Given the description of an element on the screen output the (x, y) to click on. 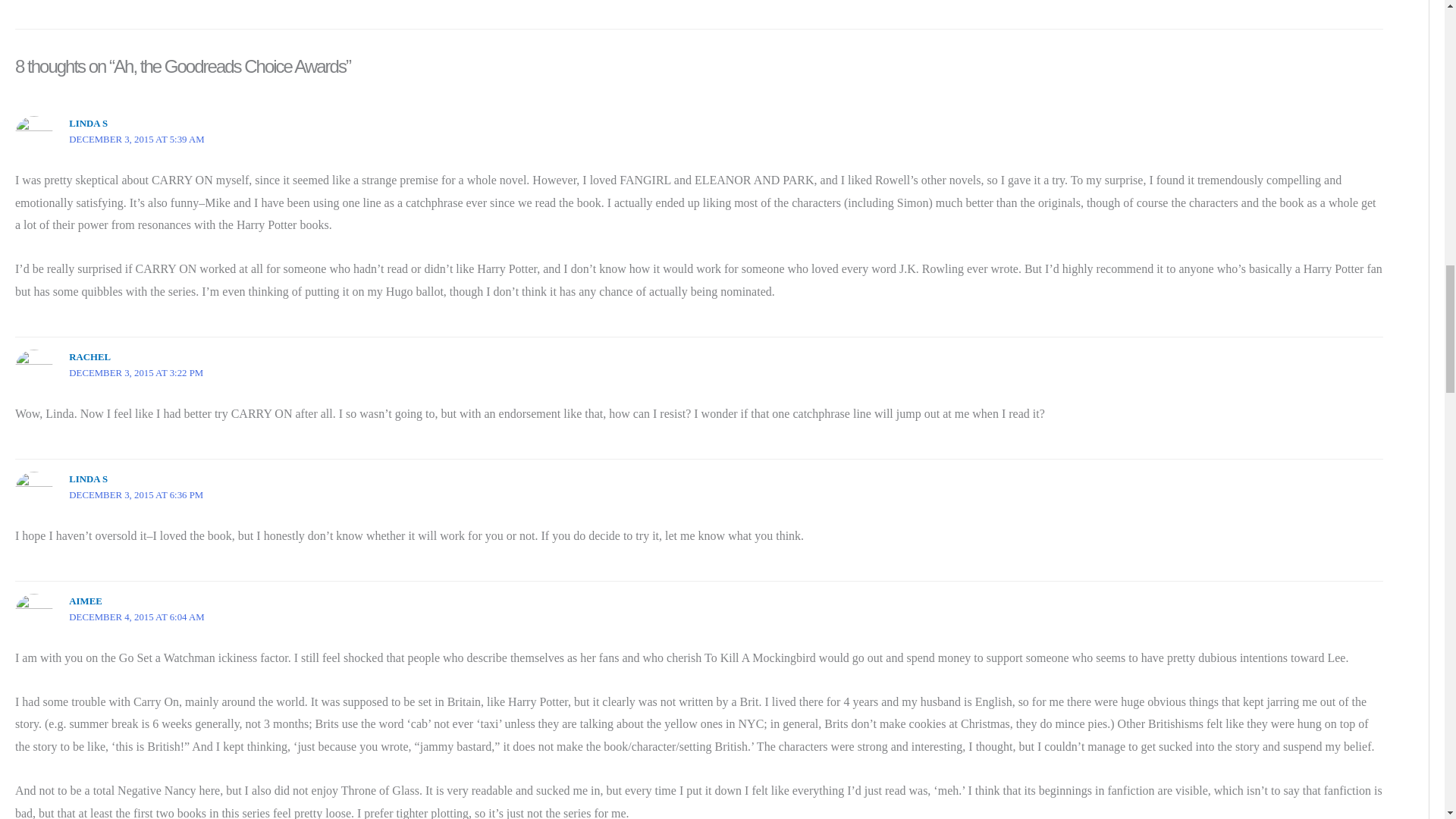
DECEMBER 4, 2015 AT 6:04 AM (135, 616)
DECEMBER 3, 2015 AT 6:36 PM (135, 494)
DECEMBER 3, 2015 AT 5:39 AM (135, 139)
DECEMBER 3, 2015 AT 3:22 PM (135, 372)
